Given the description of an element on the screen output the (x, y) to click on. 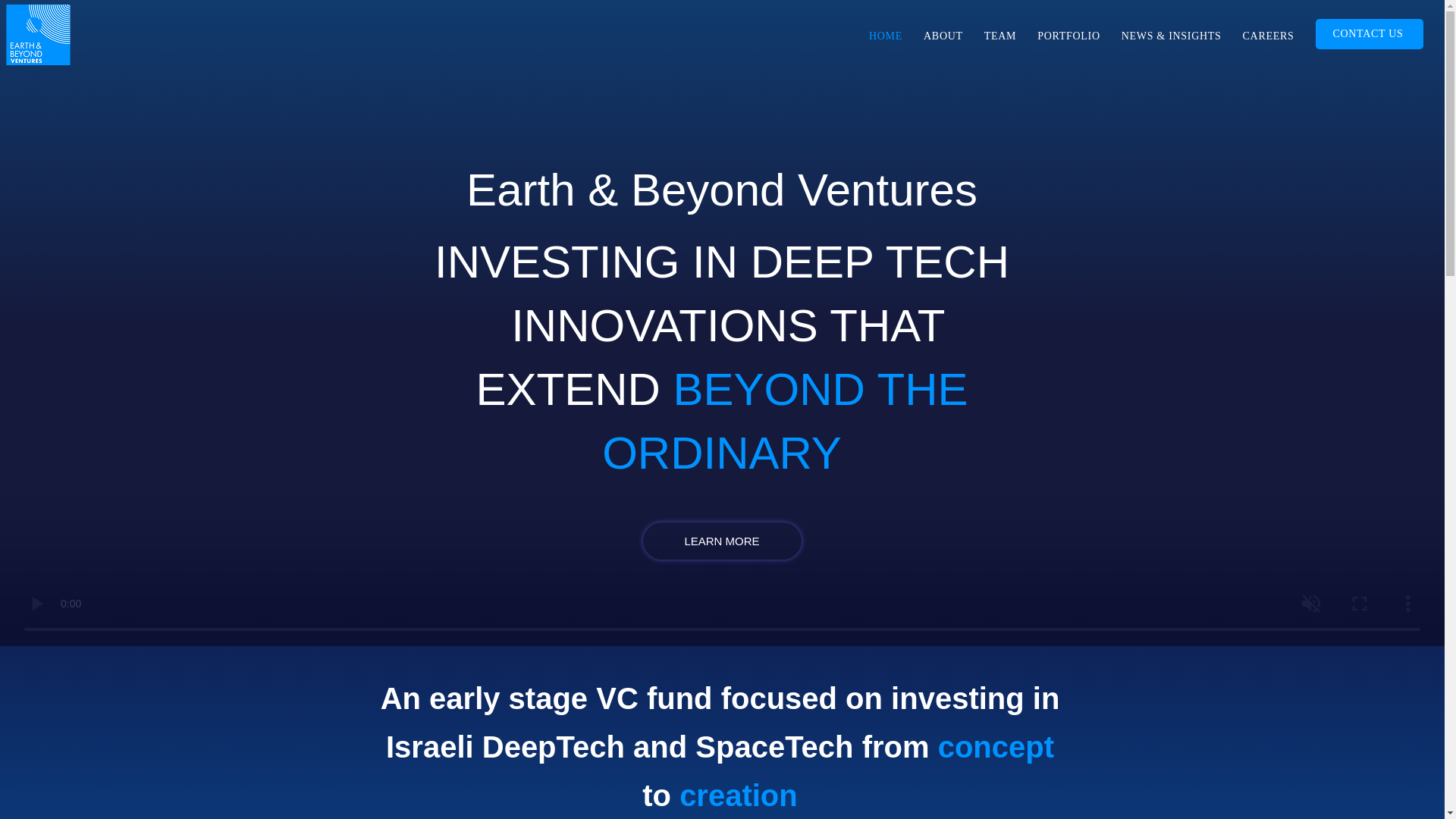
LEARN MORE (722, 540)
ABOUT (943, 36)
CONTACT US (1369, 33)
CAREERS (1267, 36)
PORTFOLIO (1067, 36)
HOME (885, 36)
TEAM (999, 36)
